Given the description of an element on the screen output the (x, y) to click on. 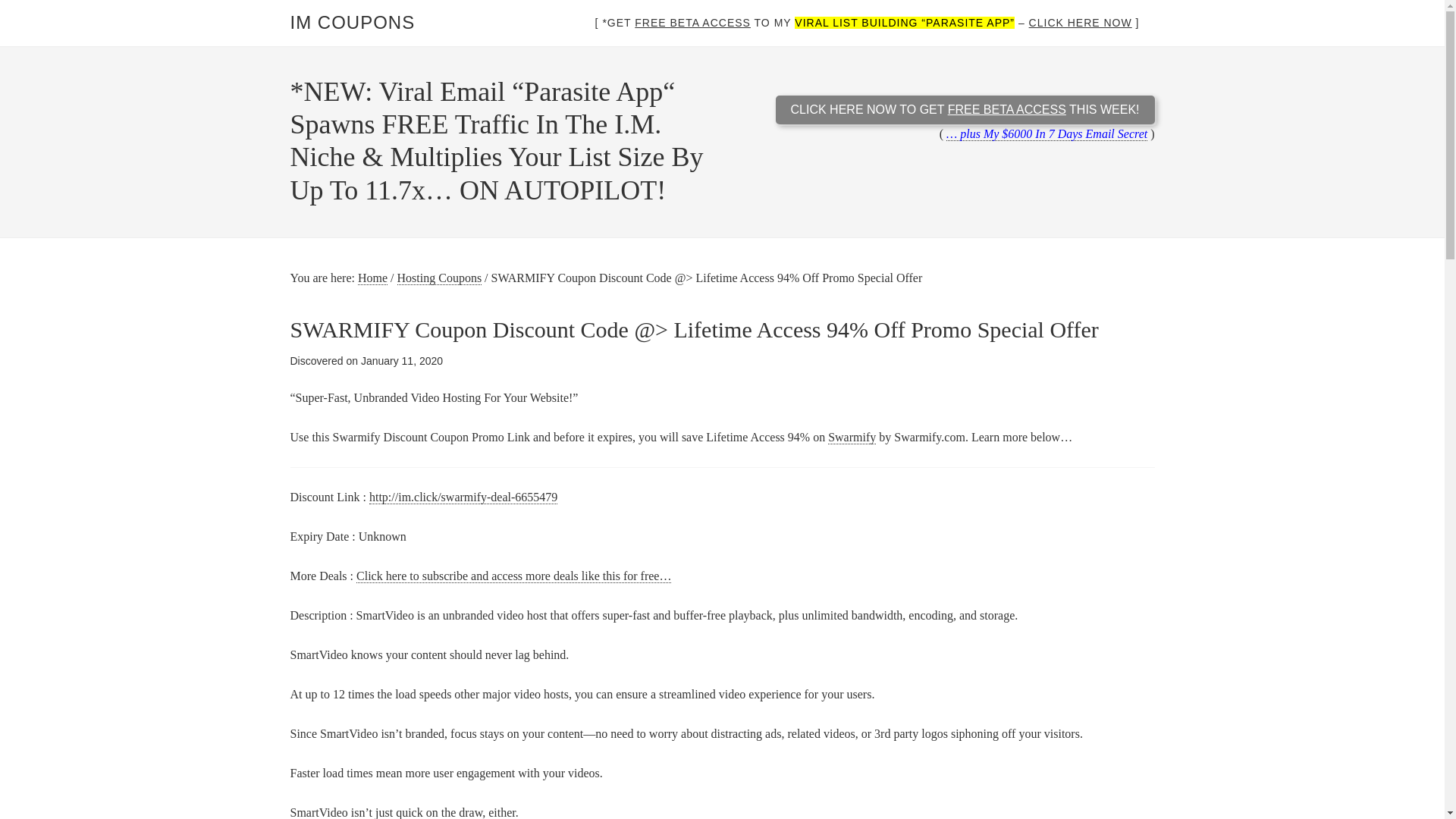
Home (372, 278)
IM COUPONS (351, 22)
CLICK HERE NOW TO GET FREE BETA ACCESS THIS WEEK! (965, 109)
Hosting Coupons (439, 278)
CLICK HERE NOW TO GET FREE BETA ACCESS THIS WEEK! (965, 121)
Swarmify (852, 437)
